Given the description of an element on the screen output the (x, y) to click on. 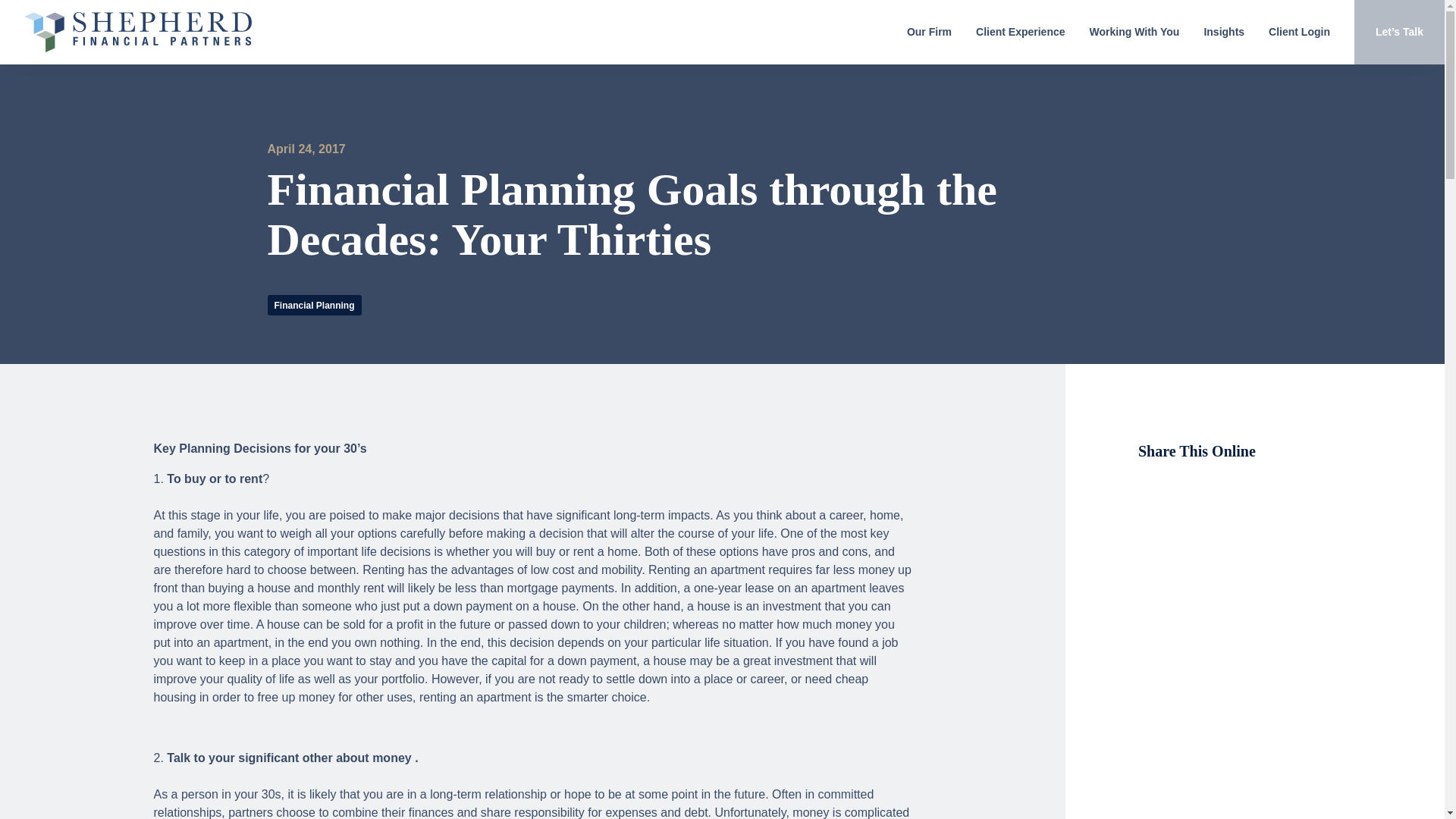
Client Experience (1020, 32)
Working With You (1134, 32)
